Given the description of an element on the screen output the (x, y) to click on. 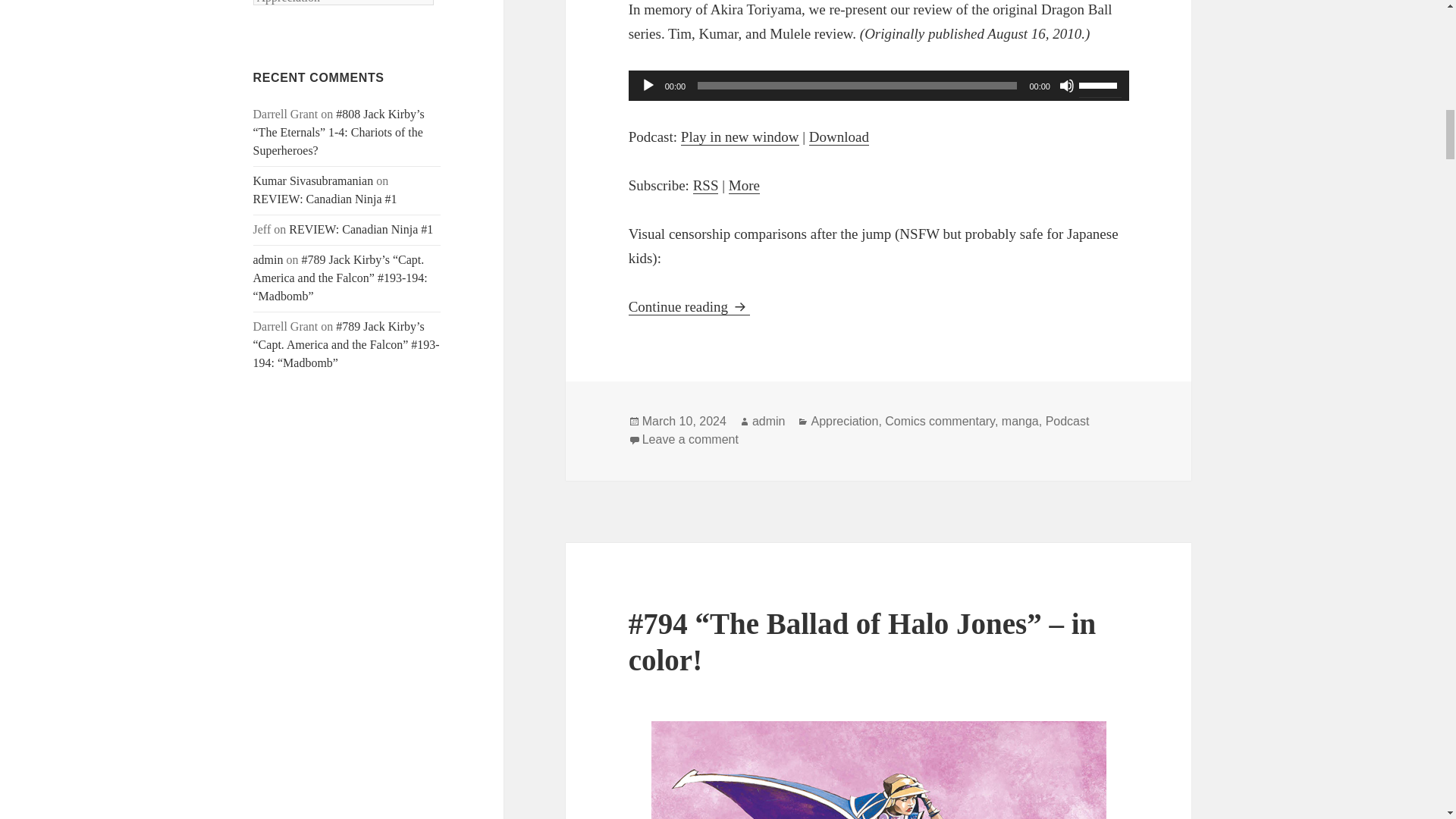
Kumar Sivasubramanian (313, 180)
admin (268, 259)
